Given the description of an element on the screen output the (x, y) to click on. 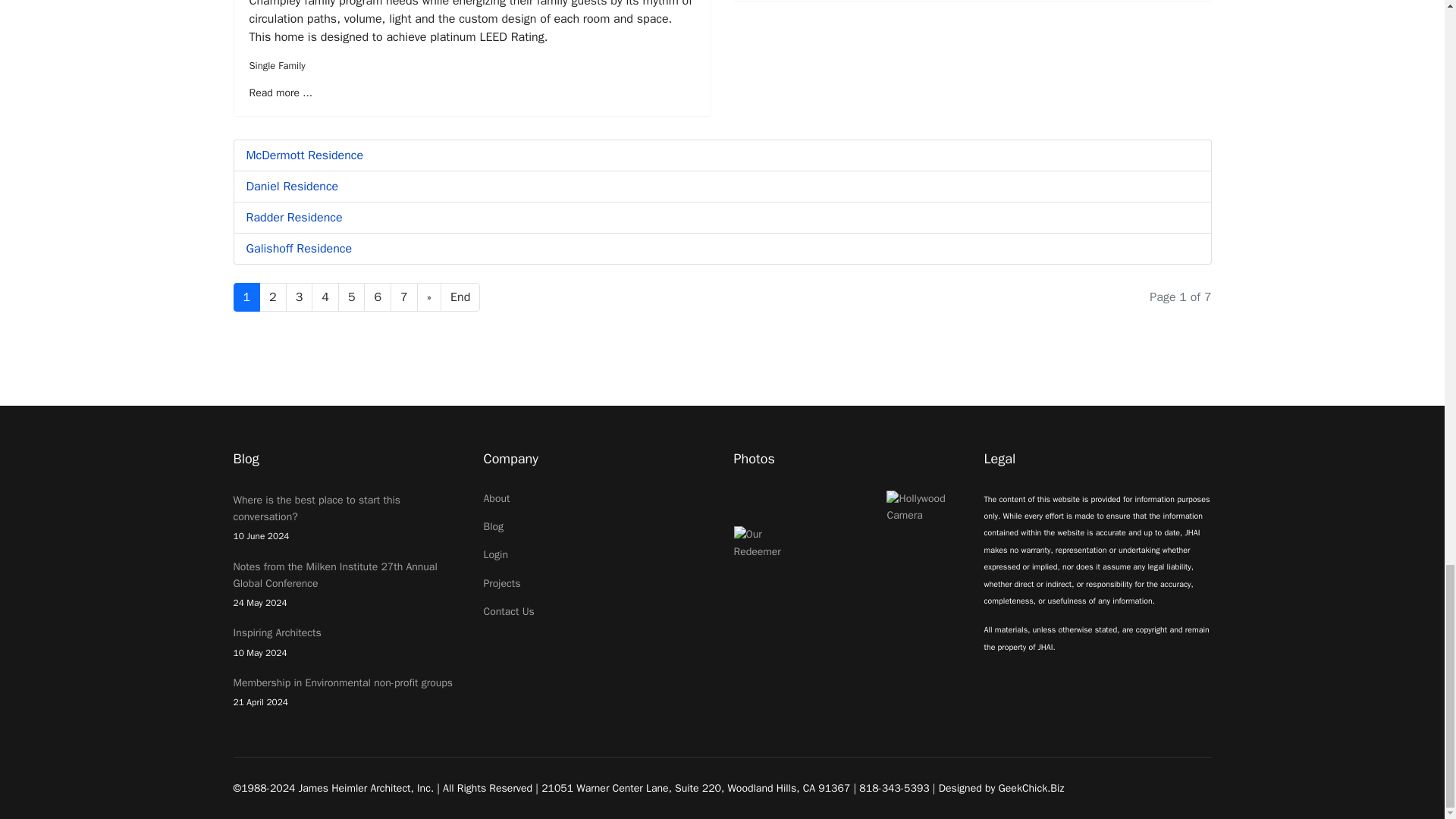
Category: Single Family (276, 65)
Hollywood Camera (923, 507)
2 (272, 297)
4 (325, 297)
3 (299, 297)
5 (351, 297)
7 (403, 297)
6 (377, 297)
End (460, 297)
